Given the description of an element on the screen output the (x, y) to click on. 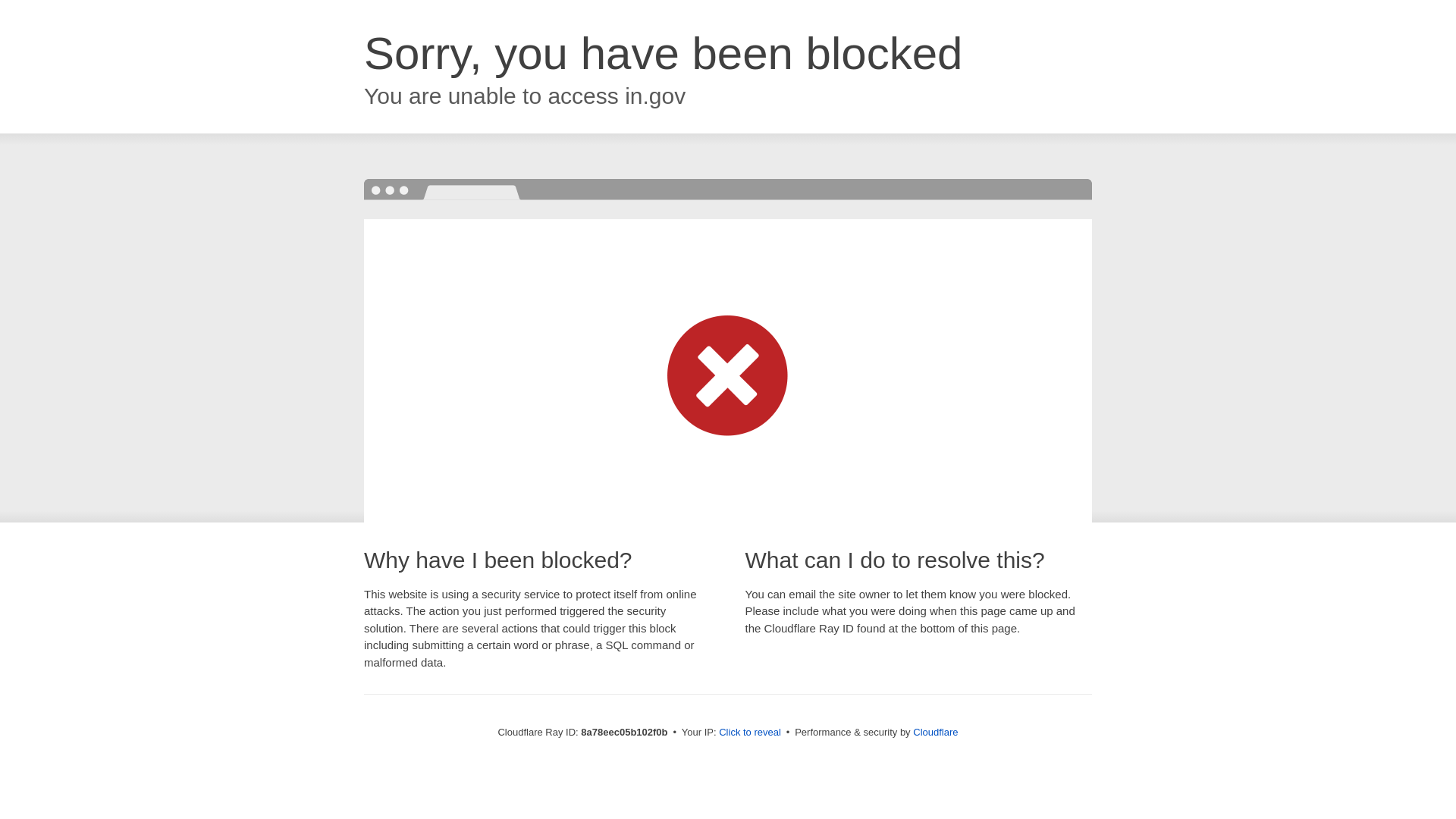
Click to reveal (749, 732)
Cloudflare (935, 731)
